Given the description of an element on the screen output the (x, y) to click on. 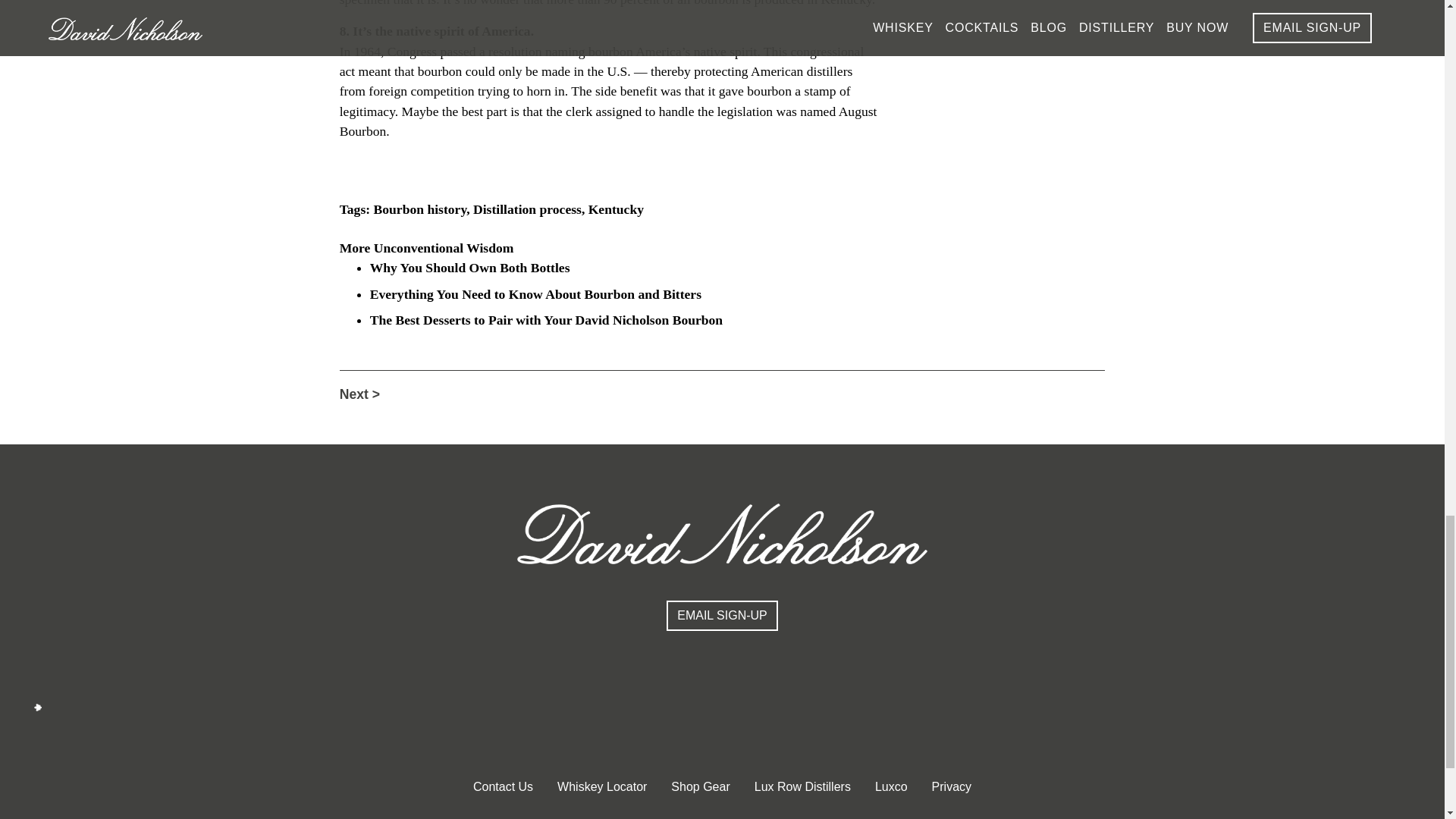
Bourbon history (420, 209)
Kentucky (615, 209)
Distillation process (526, 209)
Why You Should Own Both Bottles (469, 267)
Everything You Need to Know About Bourbon and Bitters (535, 294)
